Given the description of an element on the screen output the (x, y) to click on. 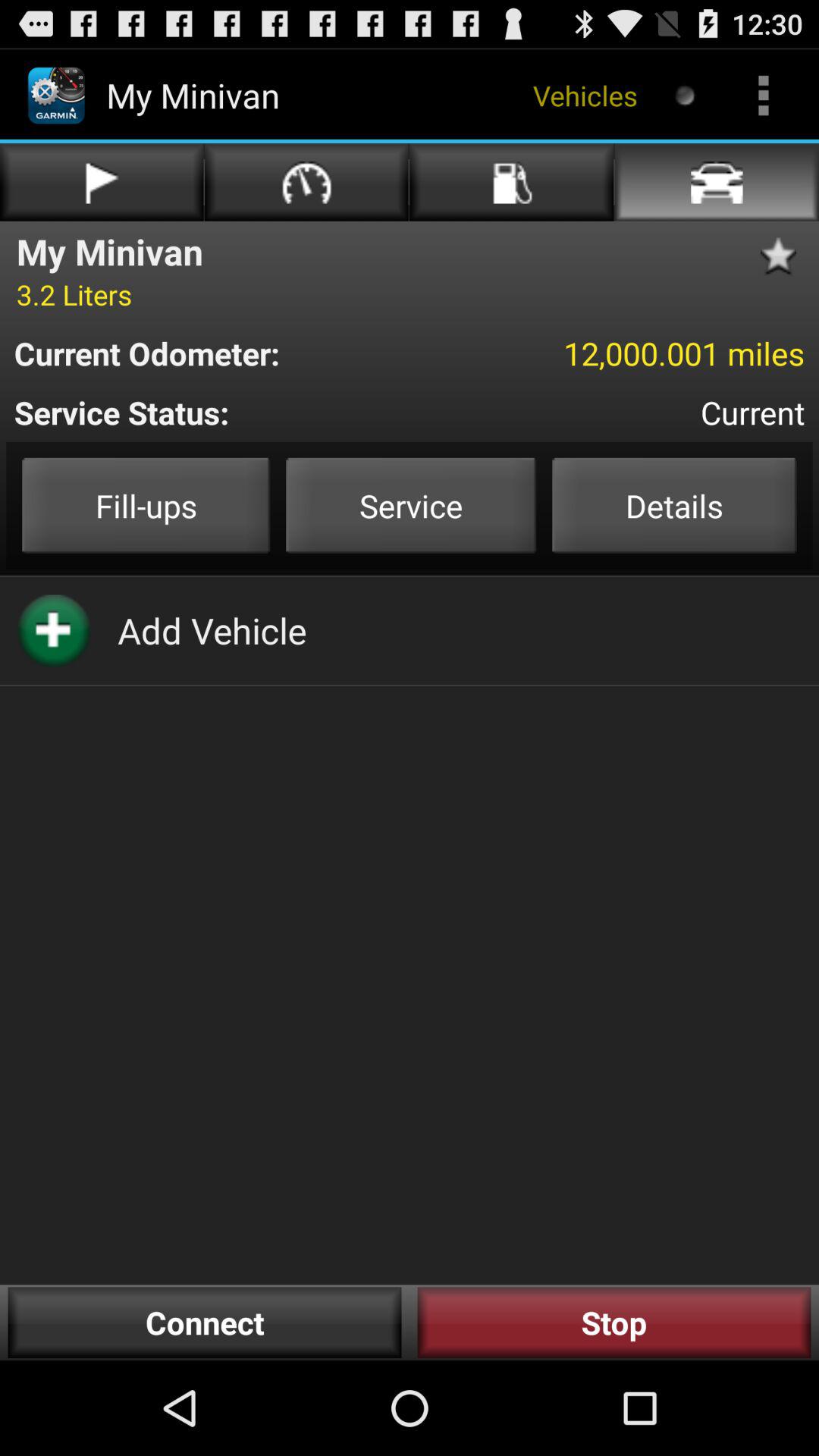
choose the app above service status: (612, 352)
